Given the description of an element on the screen output the (x, y) to click on. 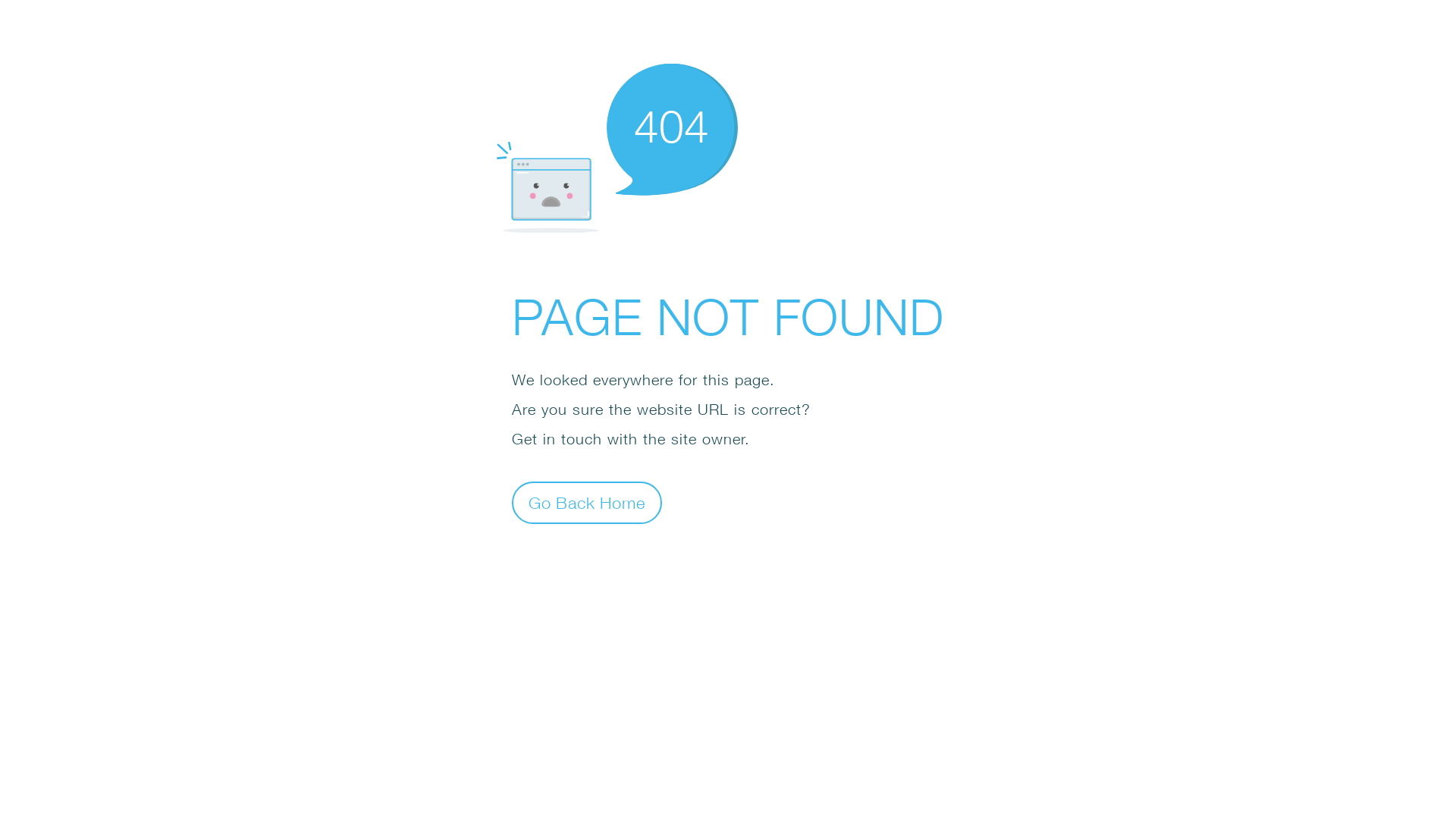
Go Back Home Element type: text (586, 502)
